Given the description of an element on the screen output the (x, y) to click on. 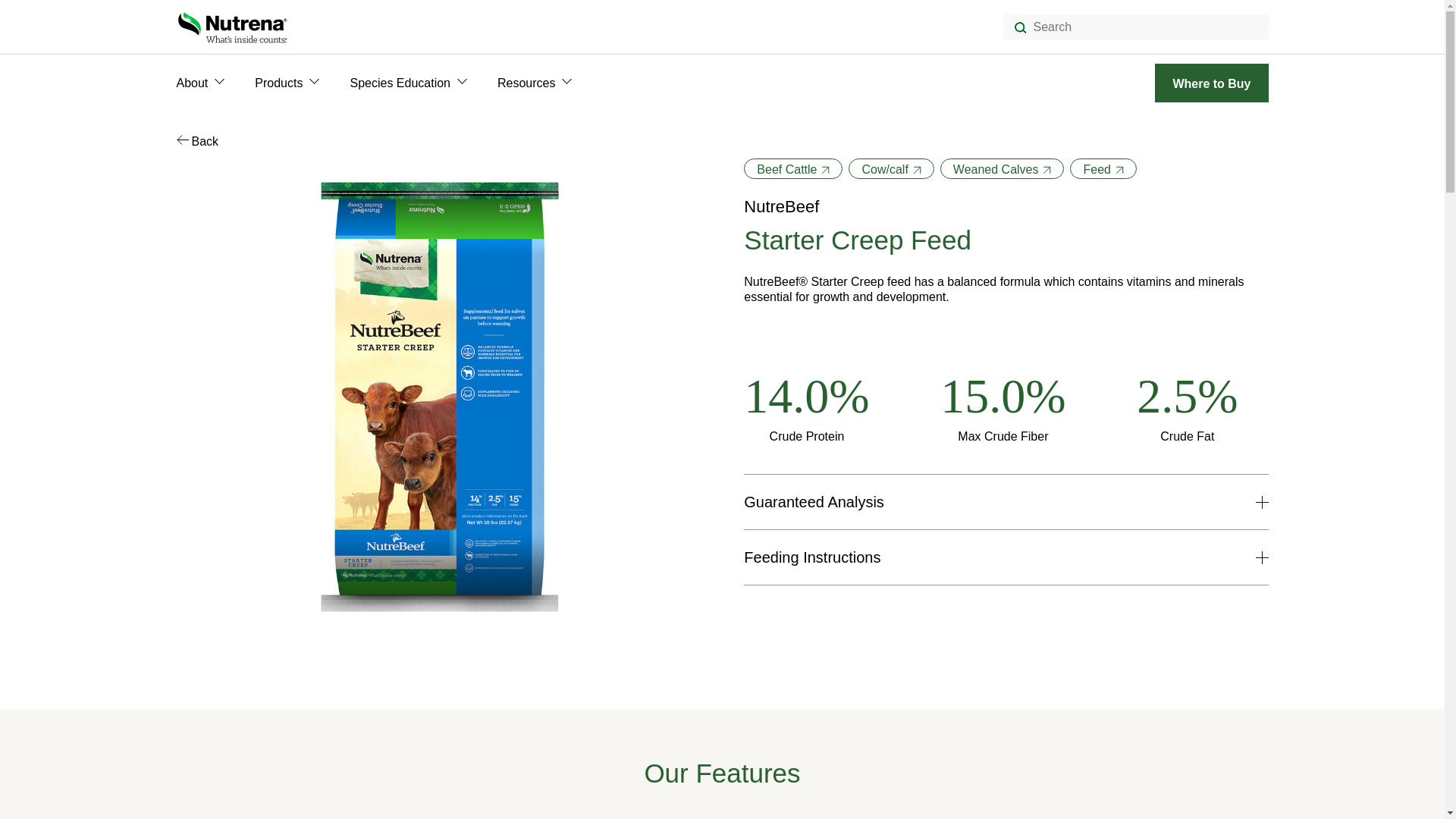
Species Education (399, 82)
About (192, 82)
Where to Buy (1211, 82)
Products (278, 82)
Resources (525, 82)
